Given the description of an element on the screen output the (x, y) to click on. 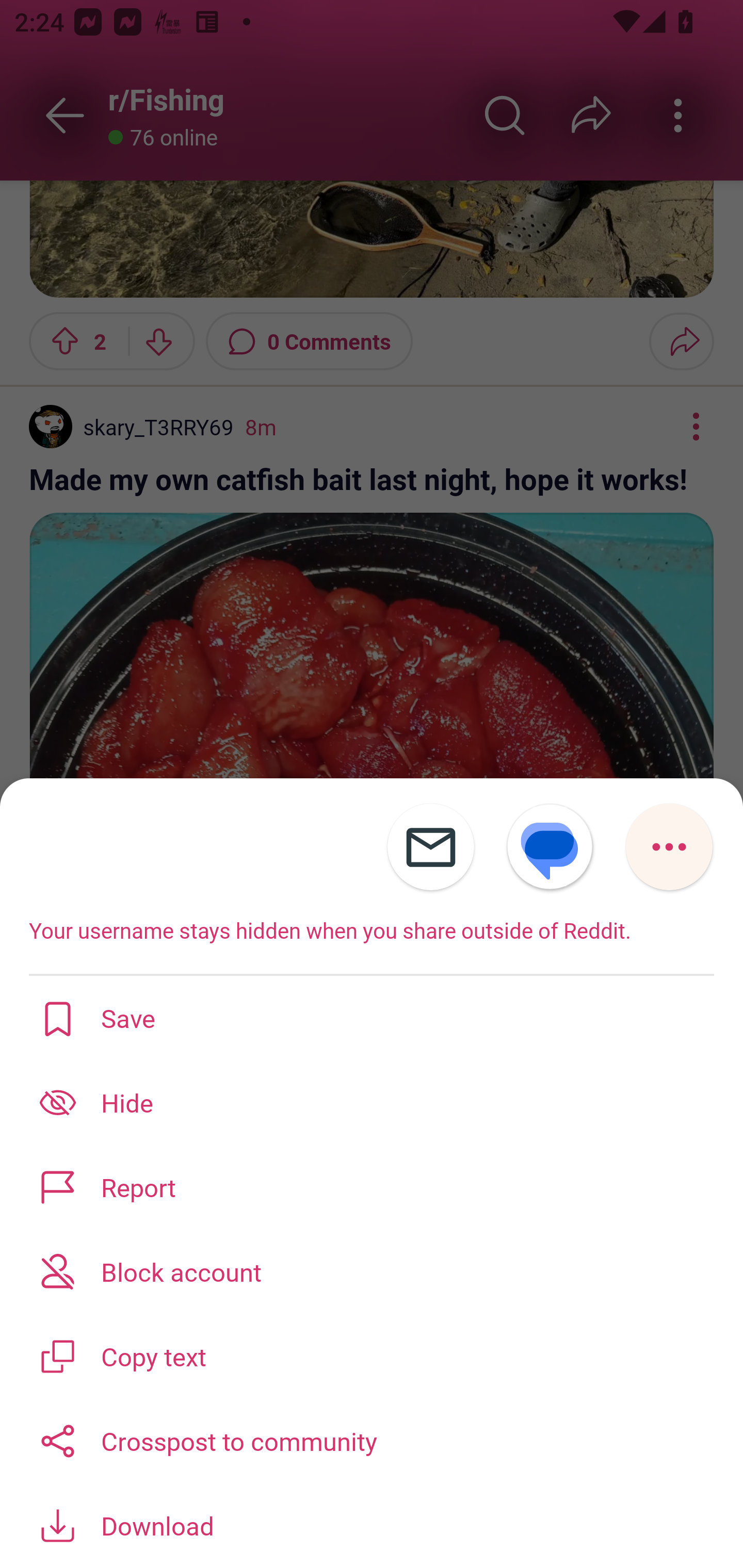
Email (430, 847)
SMS (549, 847)
More (668, 847)
Save (371, 1017)
Hide (371, 1101)
Report (371, 1186)
Block account (371, 1271)
Copy text (371, 1355)
Crosspost to community (371, 1439)
Download (371, 1524)
